Given the description of an element on the screen output the (x, y) to click on. 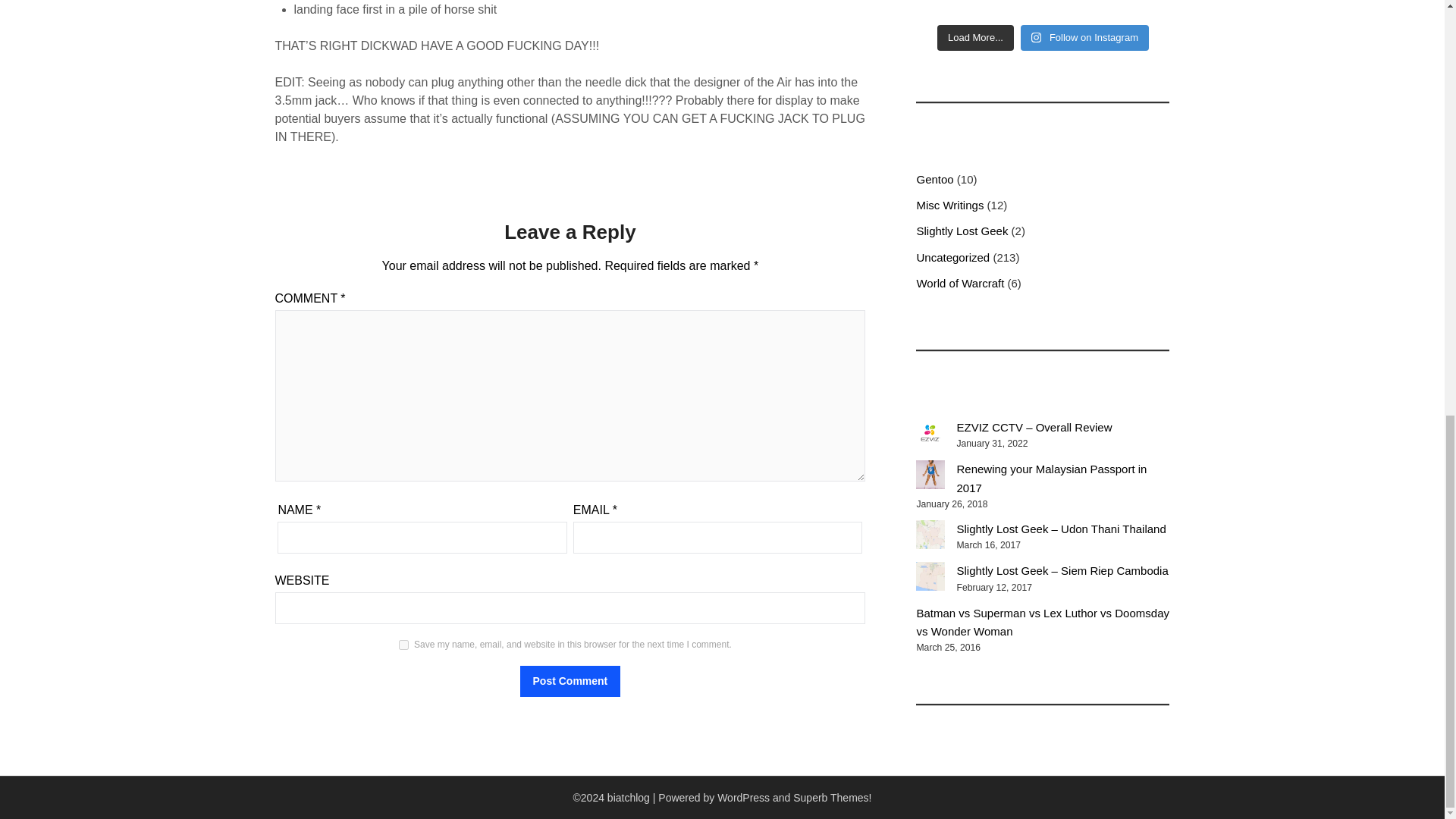
Load More... (975, 37)
yes (403, 644)
Renewing your Malaysian Passport in 2017 (929, 474)
World of Warcraft (959, 282)
Renewing your Malaysian Passport in 2017 (1051, 477)
Follow on Instagram (1084, 37)
Uncategorized (952, 256)
Post Comment (570, 680)
Misc Writings (949, 205)
Slightly Lost Geek (961, 230)
